Given the description of an element on the screen output the (x, y) to click on. 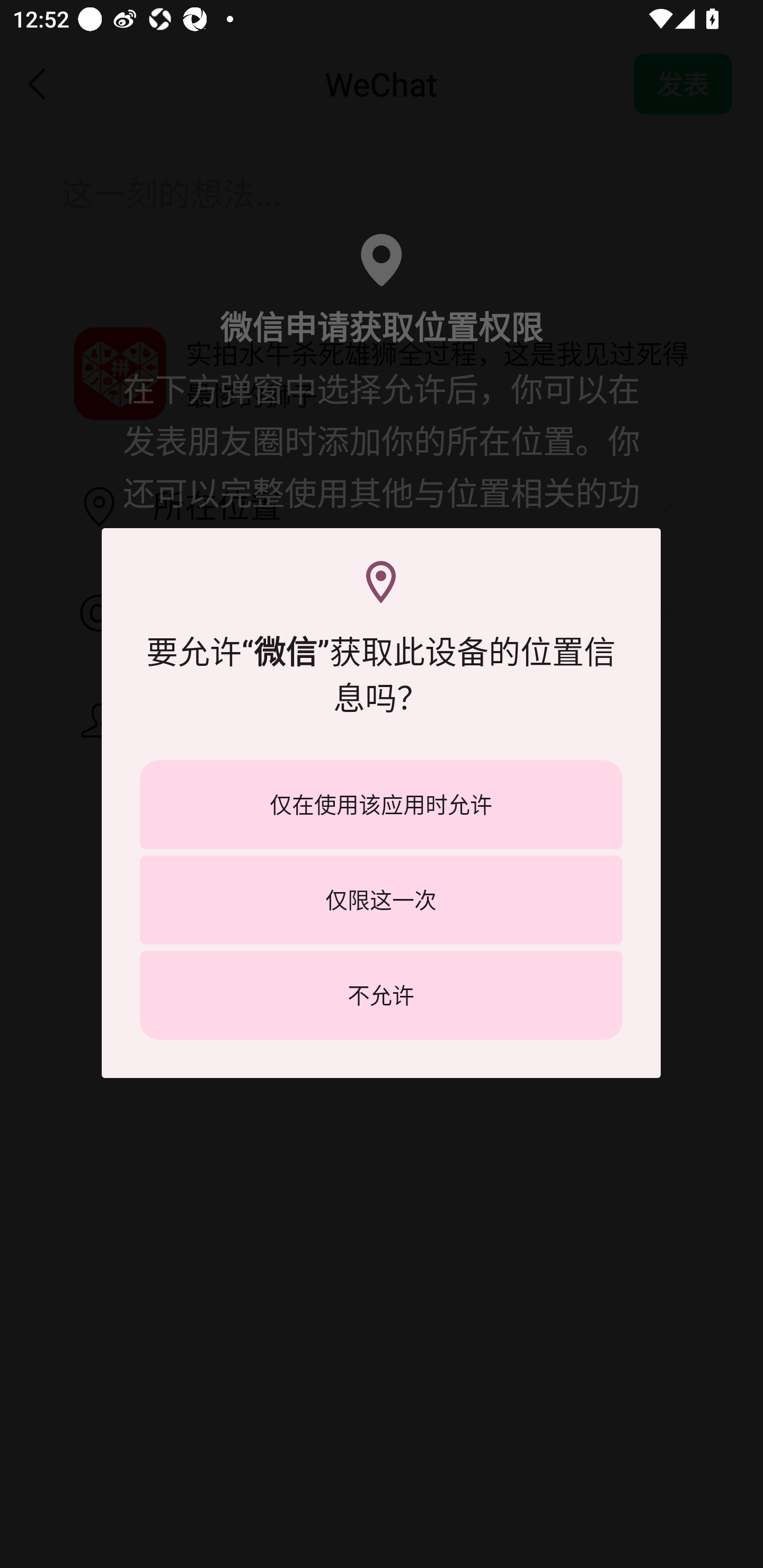
仅在使用该应用时允许 (380, 804)
仅限这一次 (380, 899)
不允许 (380, 994)
